Given the description of an element on the screen output the (x, y) to click on. 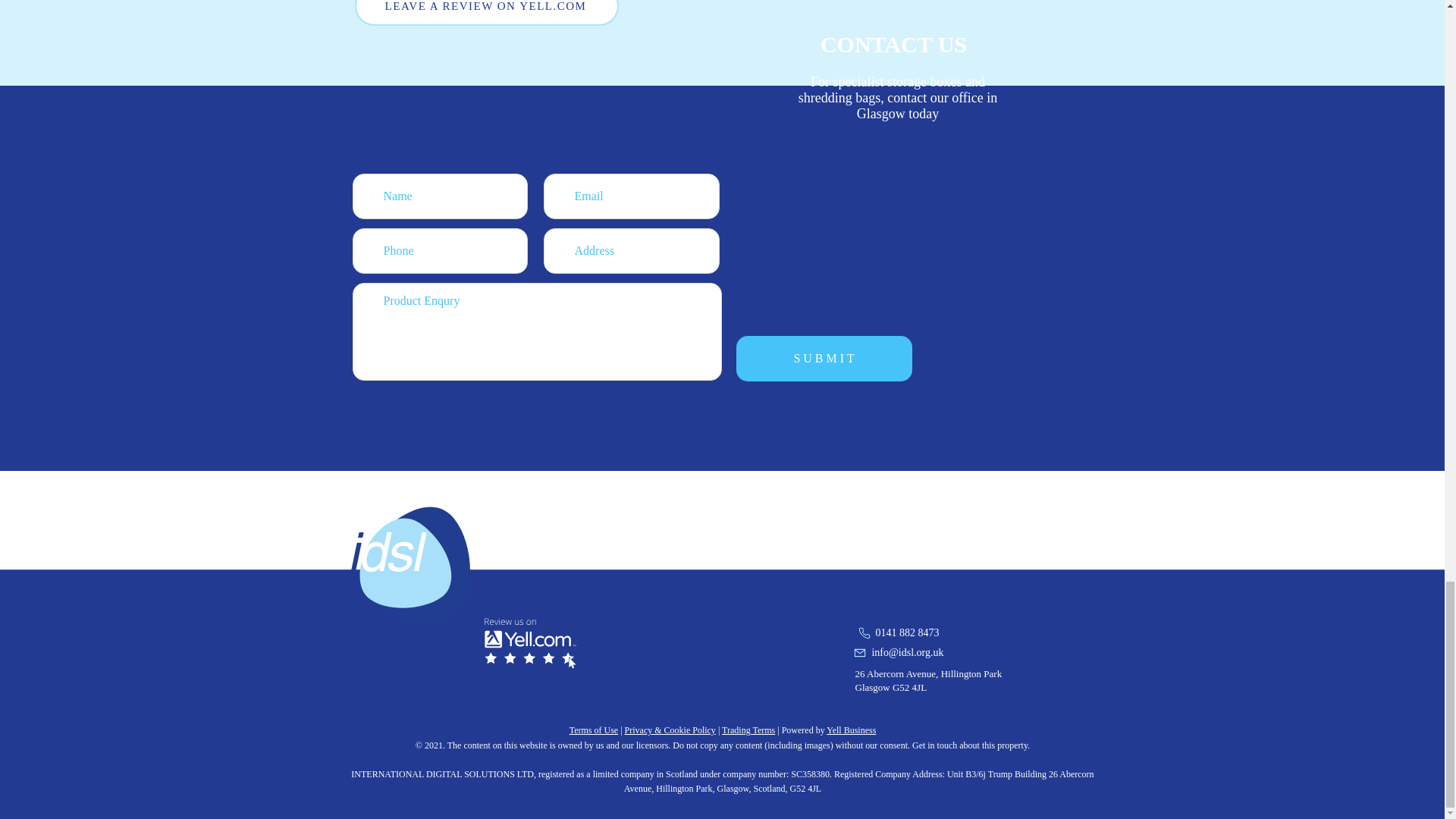
Terms of Use (593, 729)
Yell Business (851, 729)
LEAVE A REVIEW ON YELL.COM (486, 12)
0141 882 8473 (885, 632)
0141 882 8473 (892, 150)
S U B M I T (823, 358)
Trading Terms (748, 729)
